Given the description of an element on the screen output the (x, y) to click on. 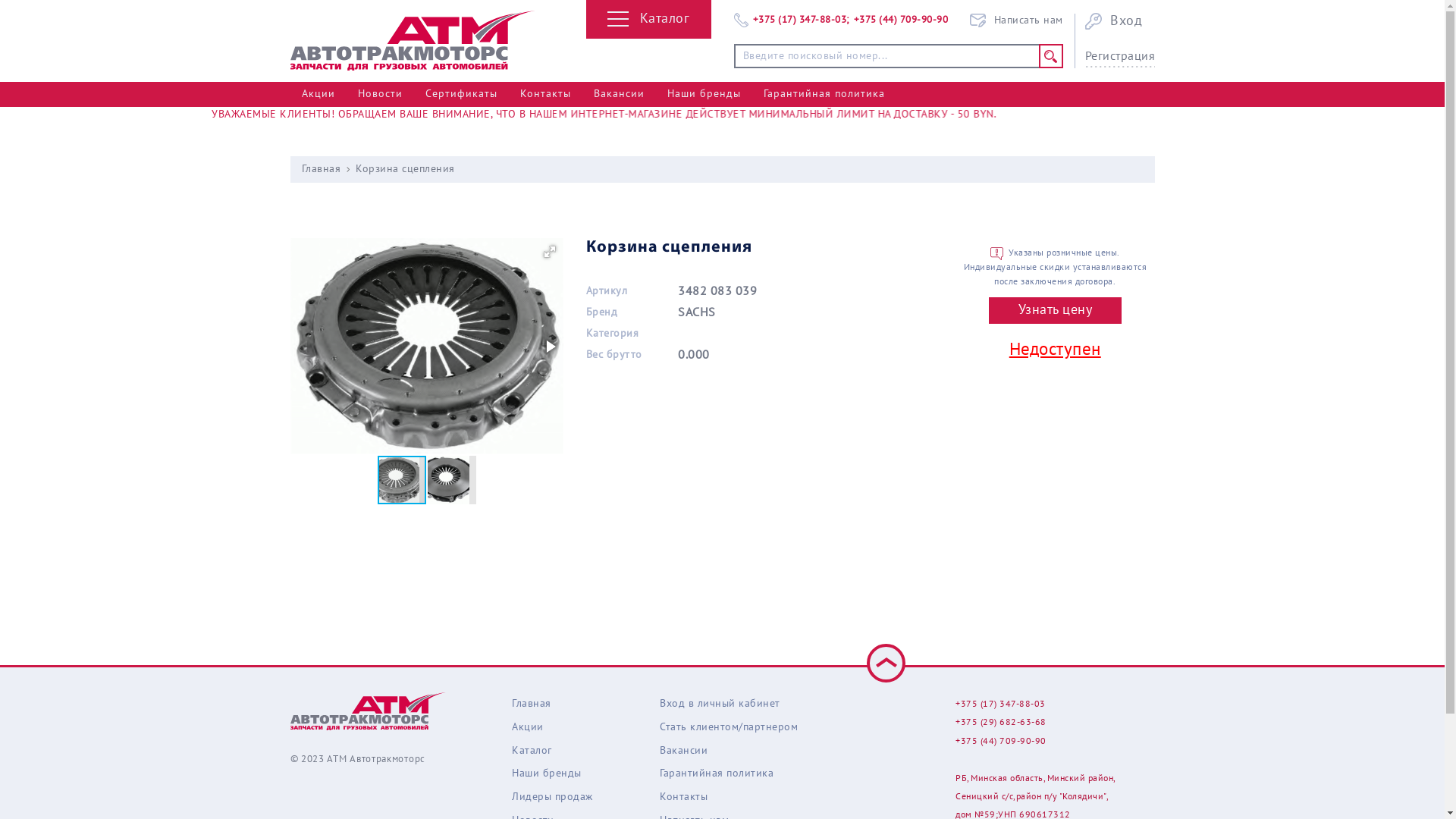
+375 (17) 347-88-03 Element type: text (1000, 703)
+375 (17) 347-88-03; Element type: text (800, 19)
+375 (29) 682-63-68 Element type: text (1000, 721)
+375 (44) 709-90-90 Element type: text (1000, 740)
+375 (44) 709-90-90 Element type: text (900, 19)
